Given the description of an element on the screen output the (x, y) to click on. 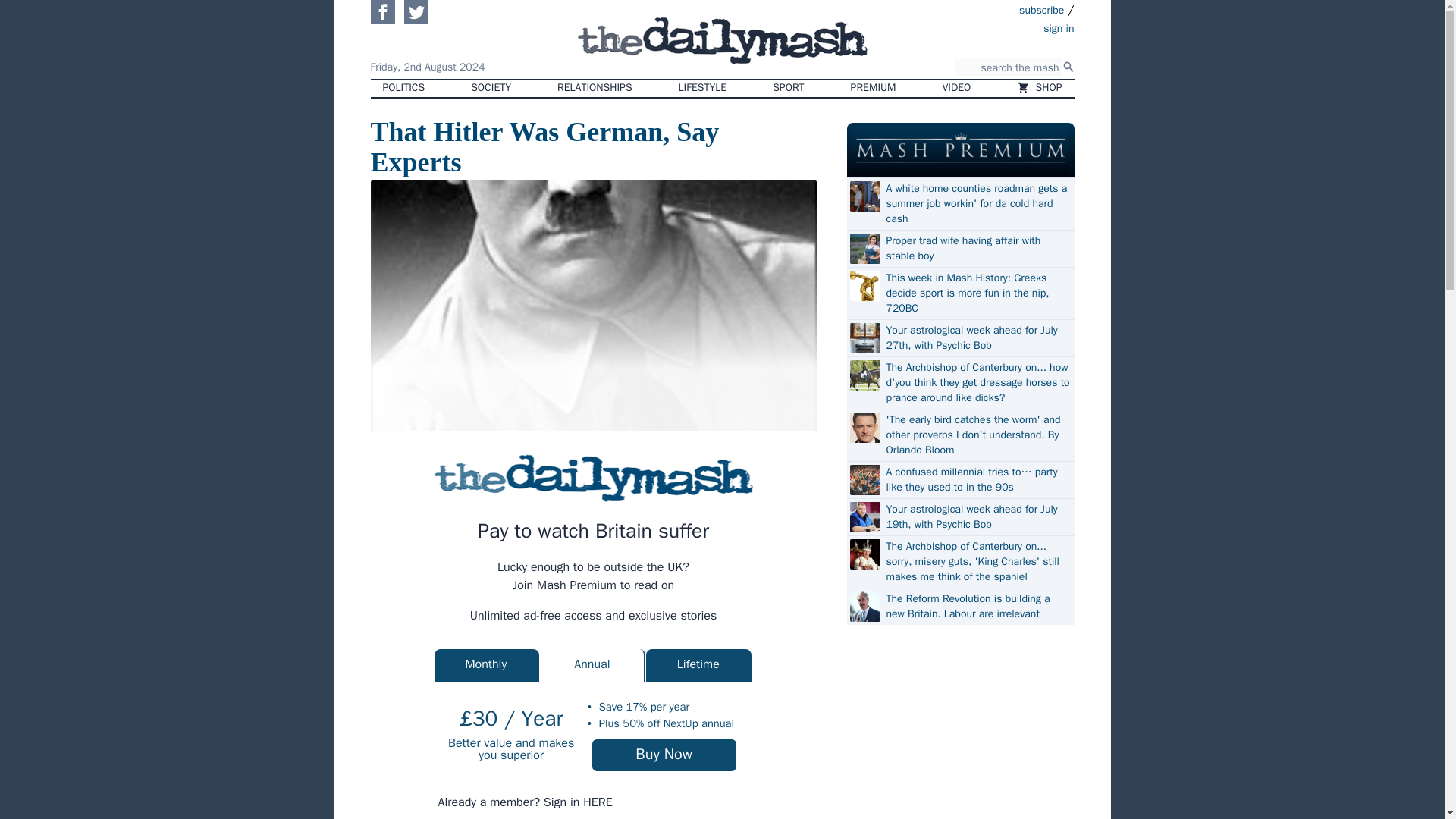
subscribe (1041, 9)
RELATIONSHIPS (593, 88)
SOCIETY (490, 88)
LIFESTYLE (702, 88)
VIDEO (957, 88)
sign in (970, 27)
PREMIUM (873, 88)
SPORT (787, 88)
SHOP (1039, 88)
POLITICS (402, 88)
Proper trad wife having affair with stable boy (977, 248)
